Given the description of an element on the screen output the (x, y) to click on. 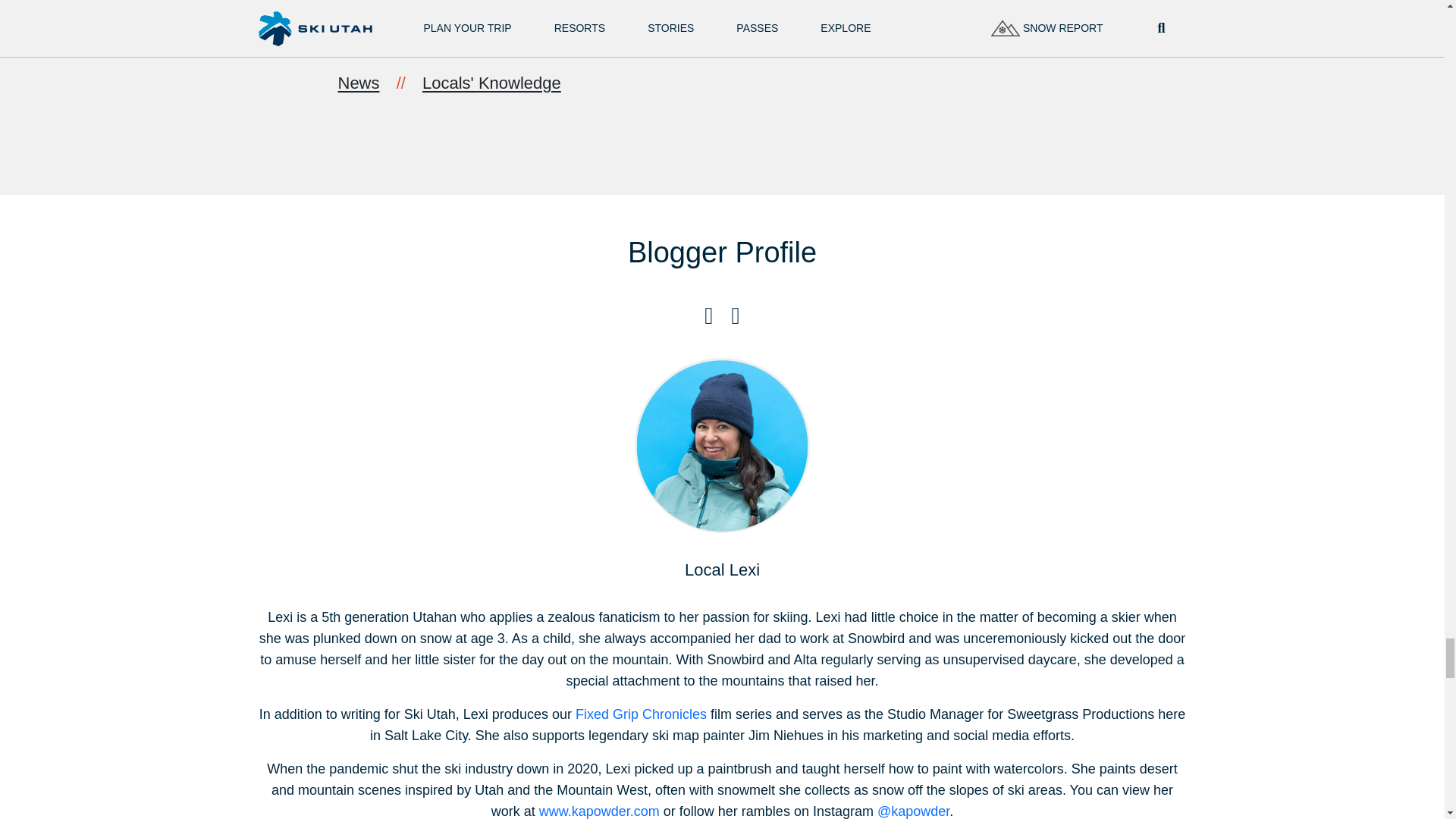
KaPowder On Instagram (913, 811)
Fixed Grip Chronicle film series (640, 713)
KaPowder.com (598, 811)
